Given the description of an element on the screen output the (x, y) to click on. 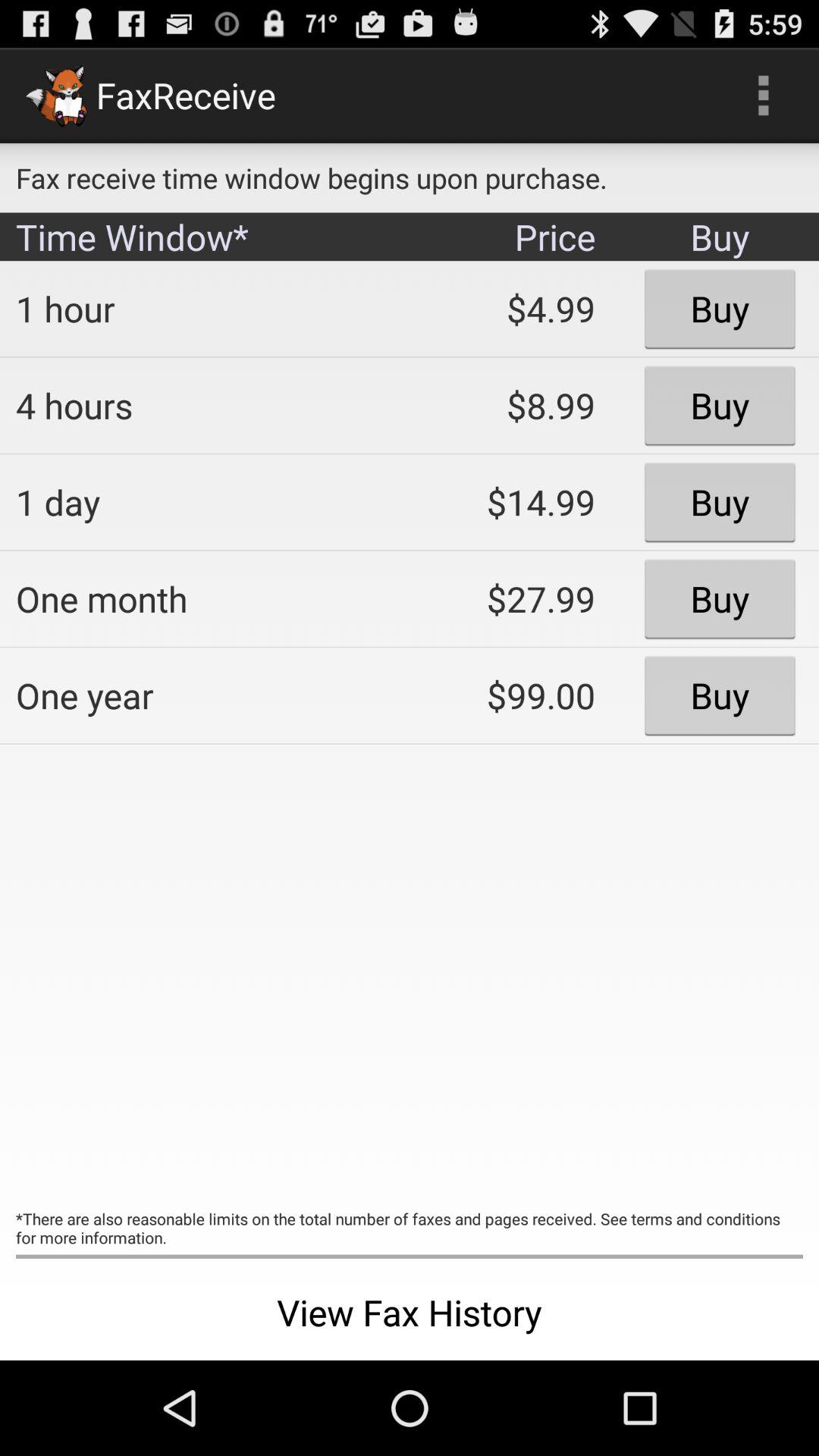
open icon above 4 hours (201, 308)
